Given the description of an element on the screen output the (x, y) to click on. 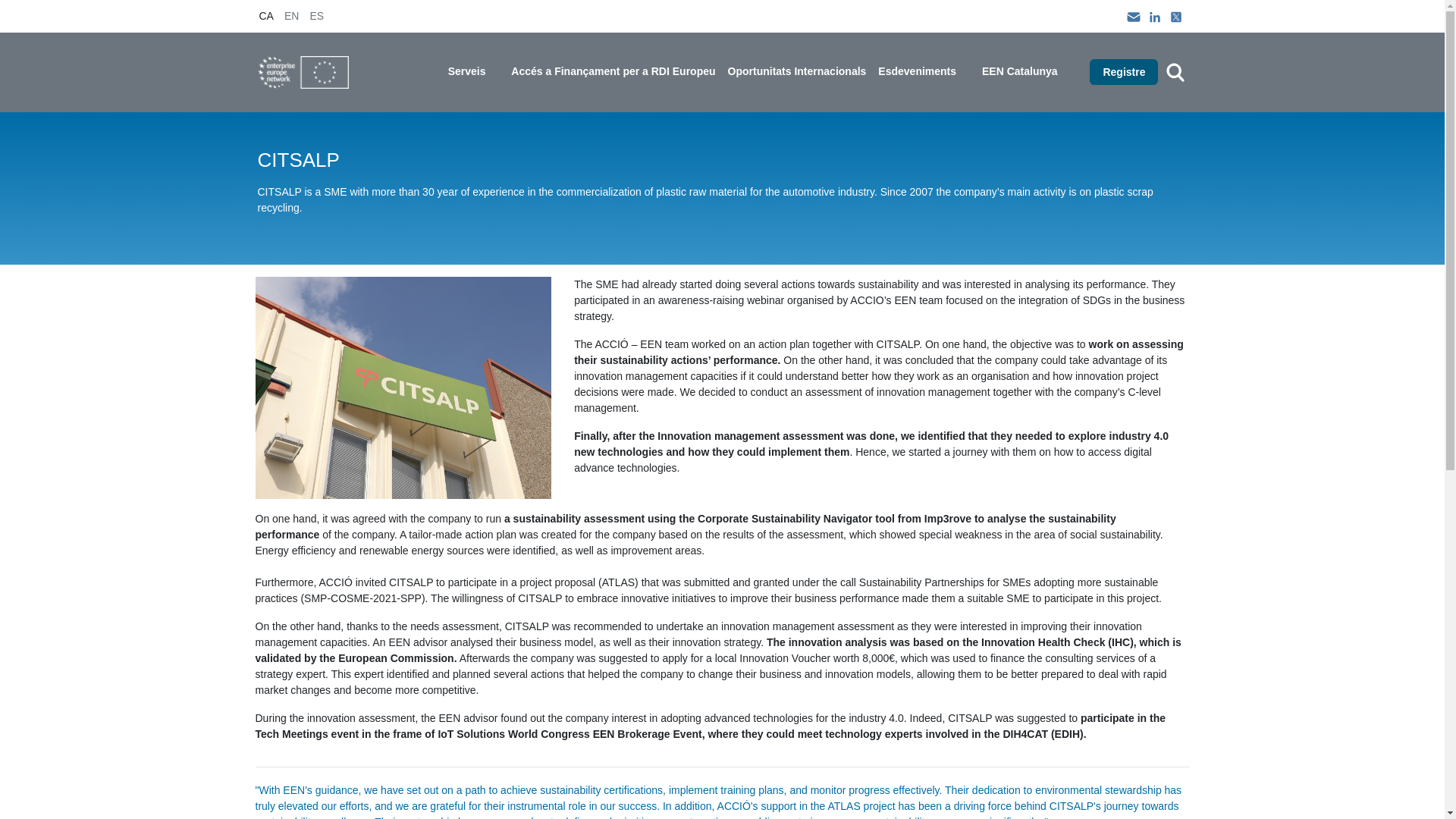
Serveis (473, 71)
Oportunitats Internacionals (797, 71)
Esdeveniments (923, 71)
EEN Catalunya (1026, 71)
Registre - Register - Registro (1123, 71)
EN (291, 15)
ES (316, 15)
